Given the description of an element on the screen output the (x, y) to click on. 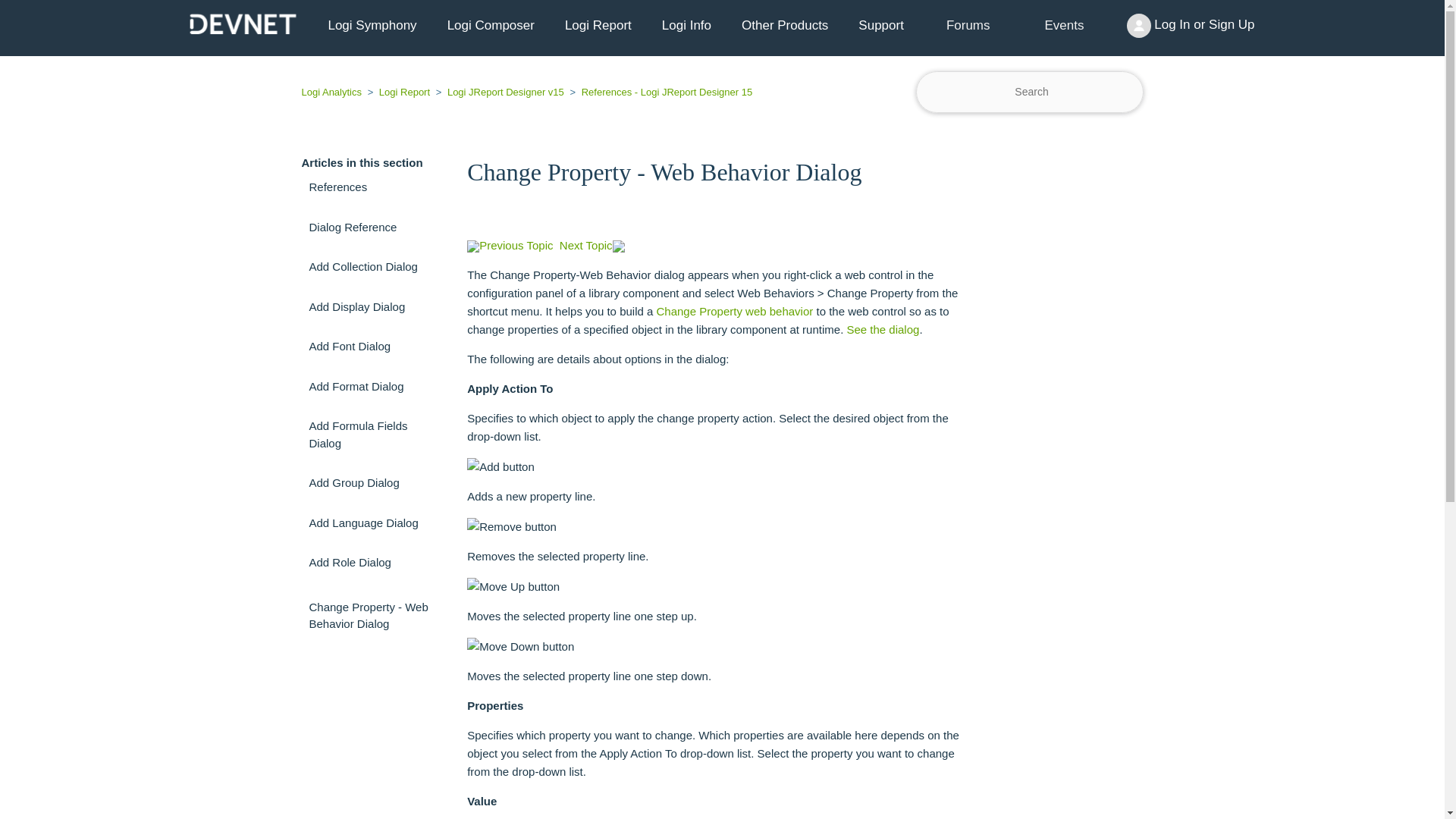
Log In or Sign Up (1190, 25)
Change Property - Web Behavior Dialog (373, 615)
Support (880, 25)
References - Logi JReport Designer 15 (659, 91)
Logi Report (598, 25)
Events (1064, 25)
Change Property - Web Behavior Dialog (721, 171)
Forums (968, 24)
Forums (967, 25)
Logi Symphony (371, 25)
